Given the description of an element on the screen output the (x, y) to click on. 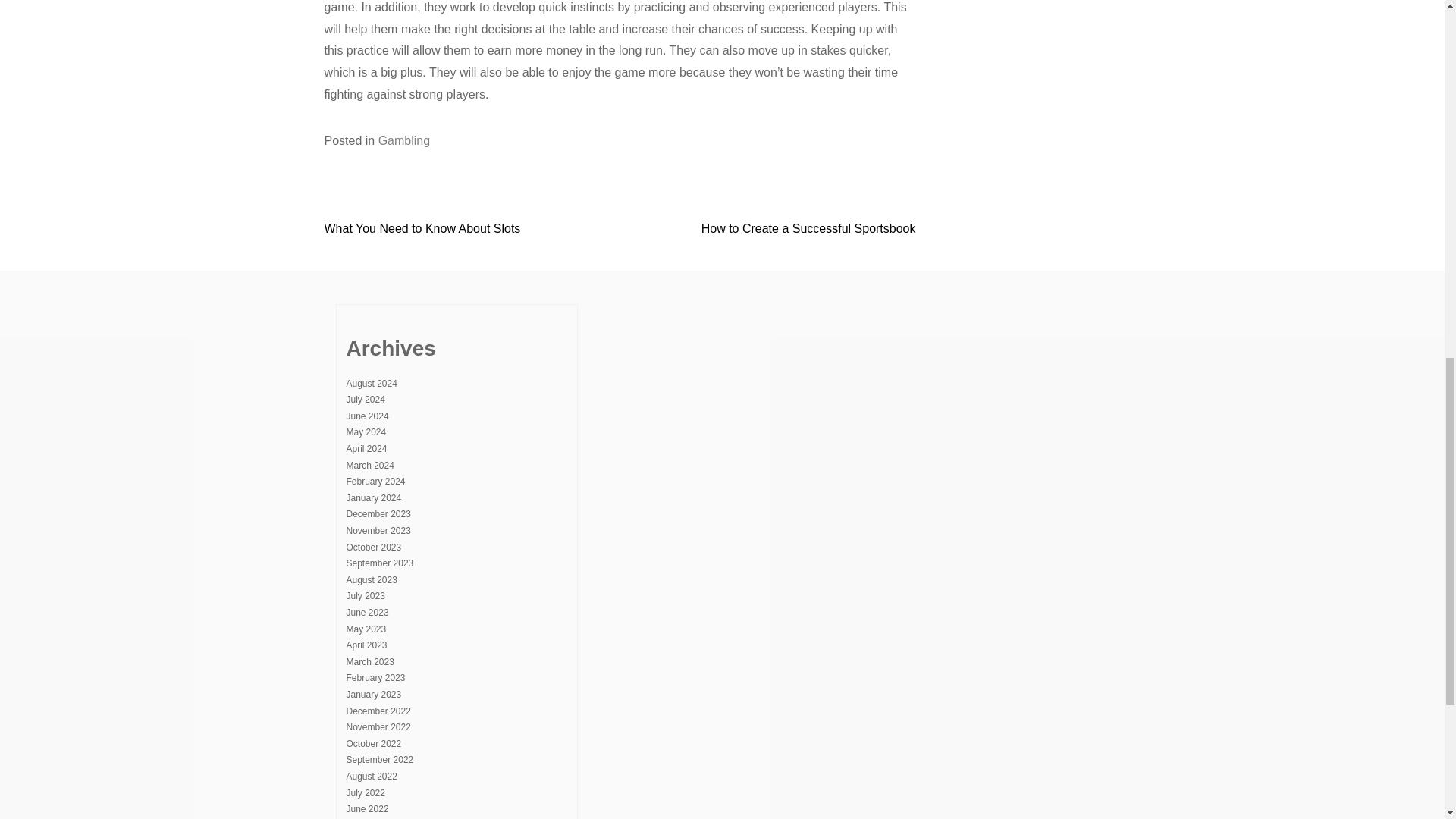
November 2023 (378, 530)
August 2024 (371, 383)
What You Need to Know About Slots (422, 228)
January 2023 (373, 694)
August 2023 (371, 579)
October 2023 (373, 547)
April 2024 (366, 448)
June 2023 (367, 612)
Gambling (403, 140)
March 2023 (369, 661)
